Given the description of an element on the screen output the (x, y) to click on. 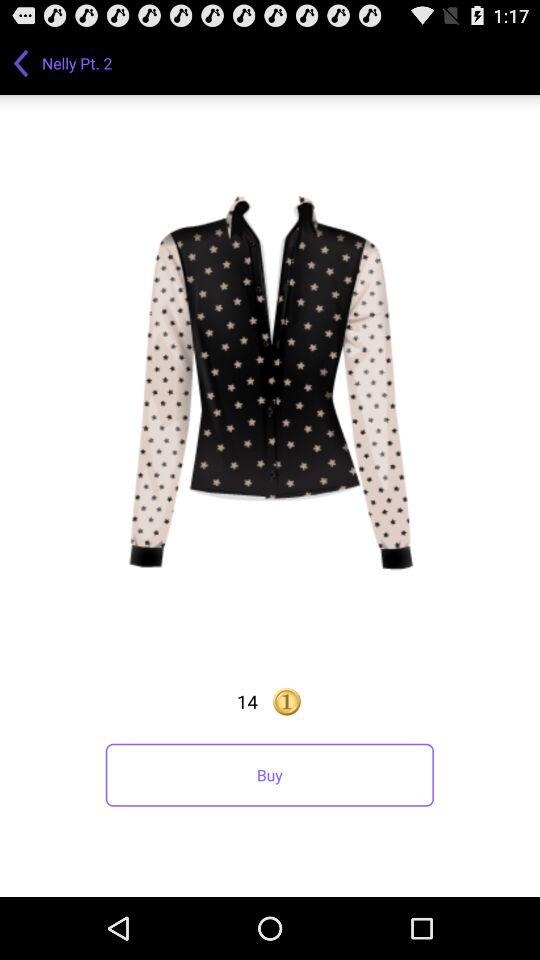
select the buy (269, 774)
